Given the description of an element on the screen output the (x, y) to click on. 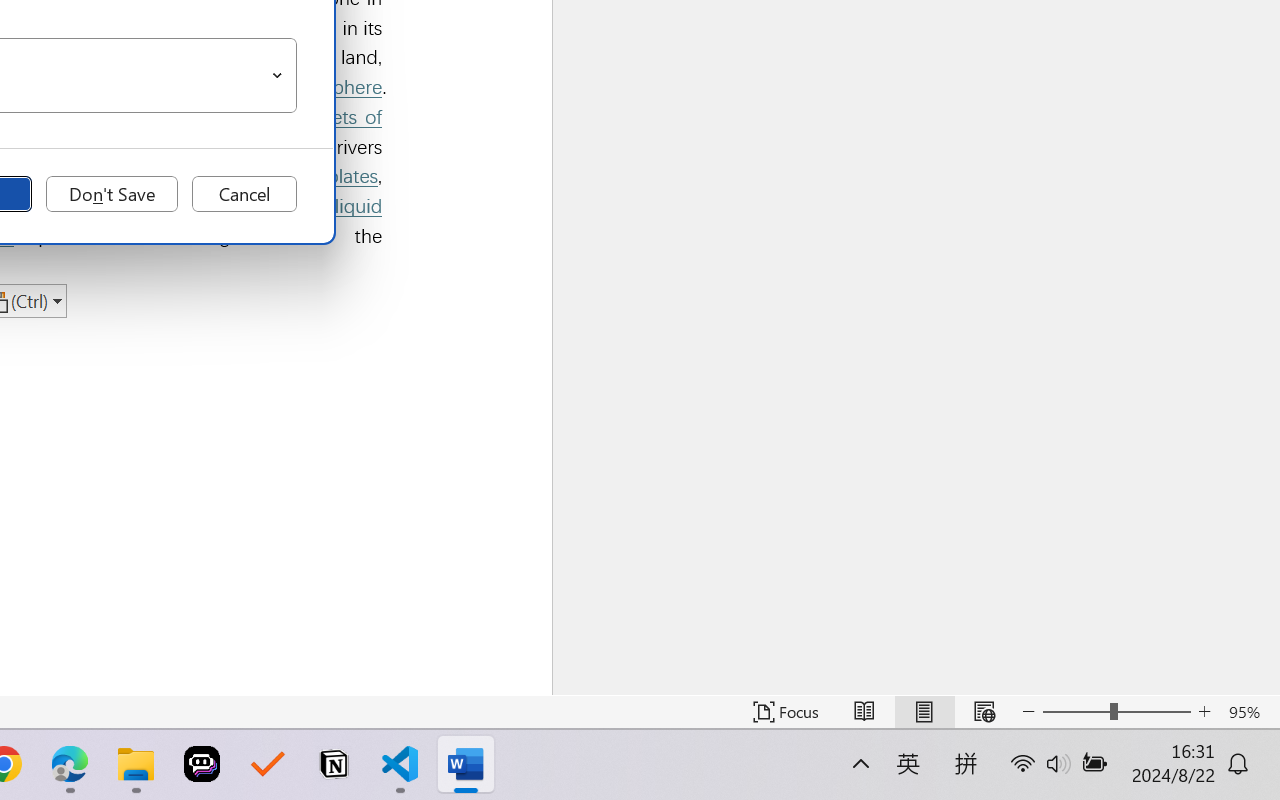
Zoom 95% (1249, 712)
